Given the description of an element on the screen output the (x, y) to click on. 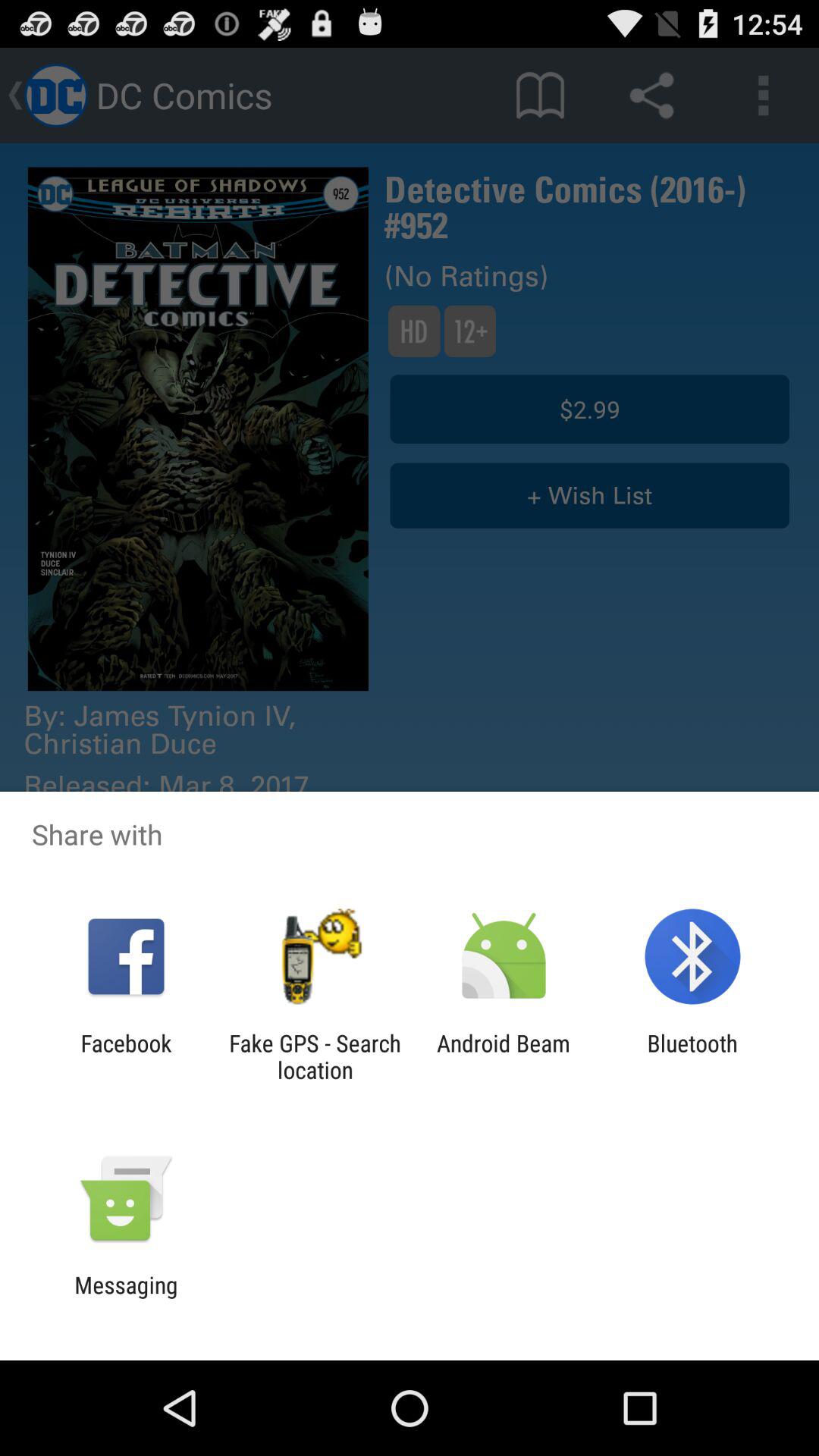
open the icon next to fake gps search (503, 1056)
